Given the description of an element on the screen output the (x, y) to click on. 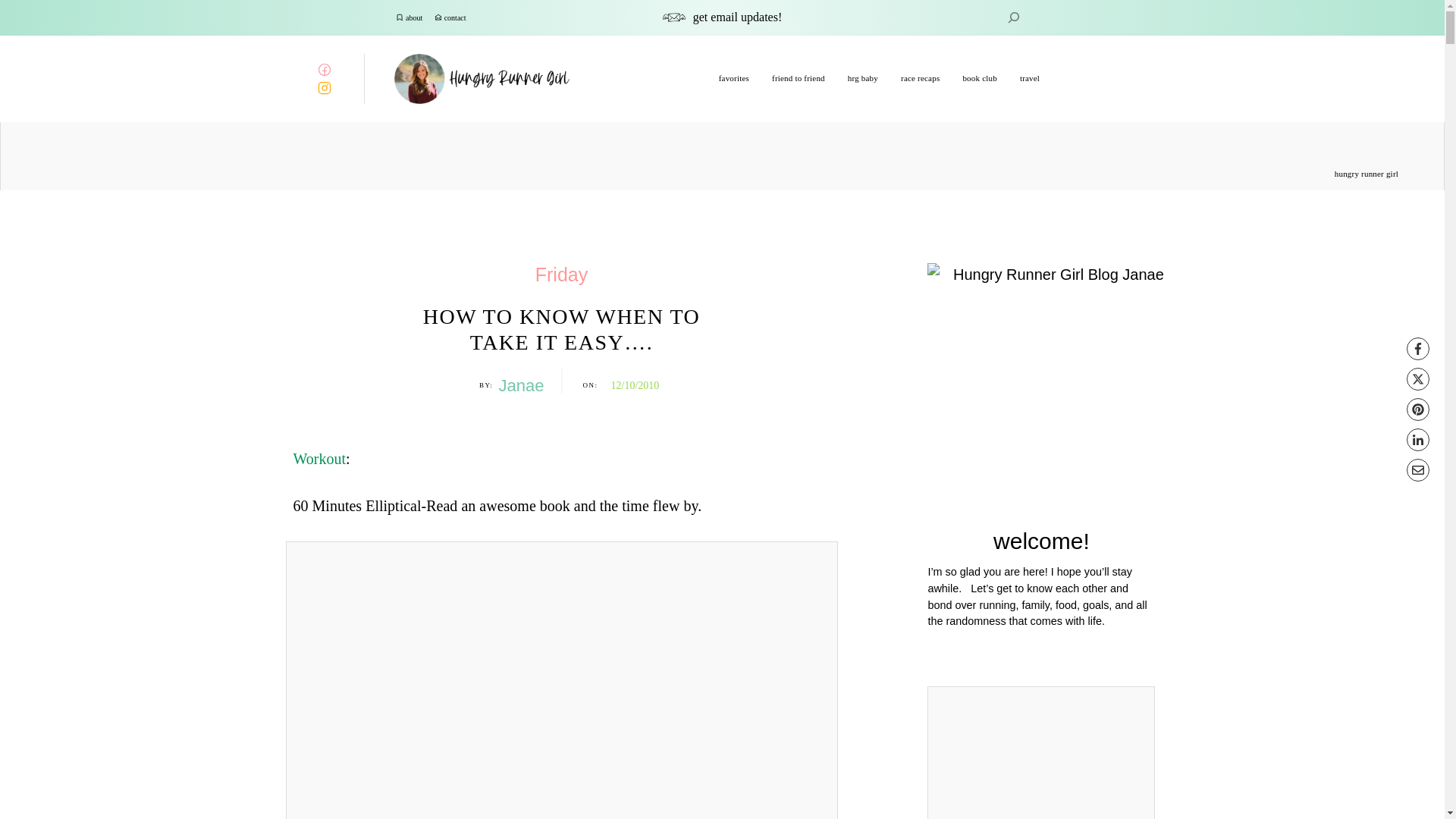
hrg baby (862, 77)
race recaps (920, 77)
about (414, 17)
friend to friend (798, 77)
favorites (734, 77)
get email updates! (738, 16)
book club (979, 77)
contact (454, 17)
travel (1029, 77)
